Given the description of an element on the screen output the (x, y) to click on. 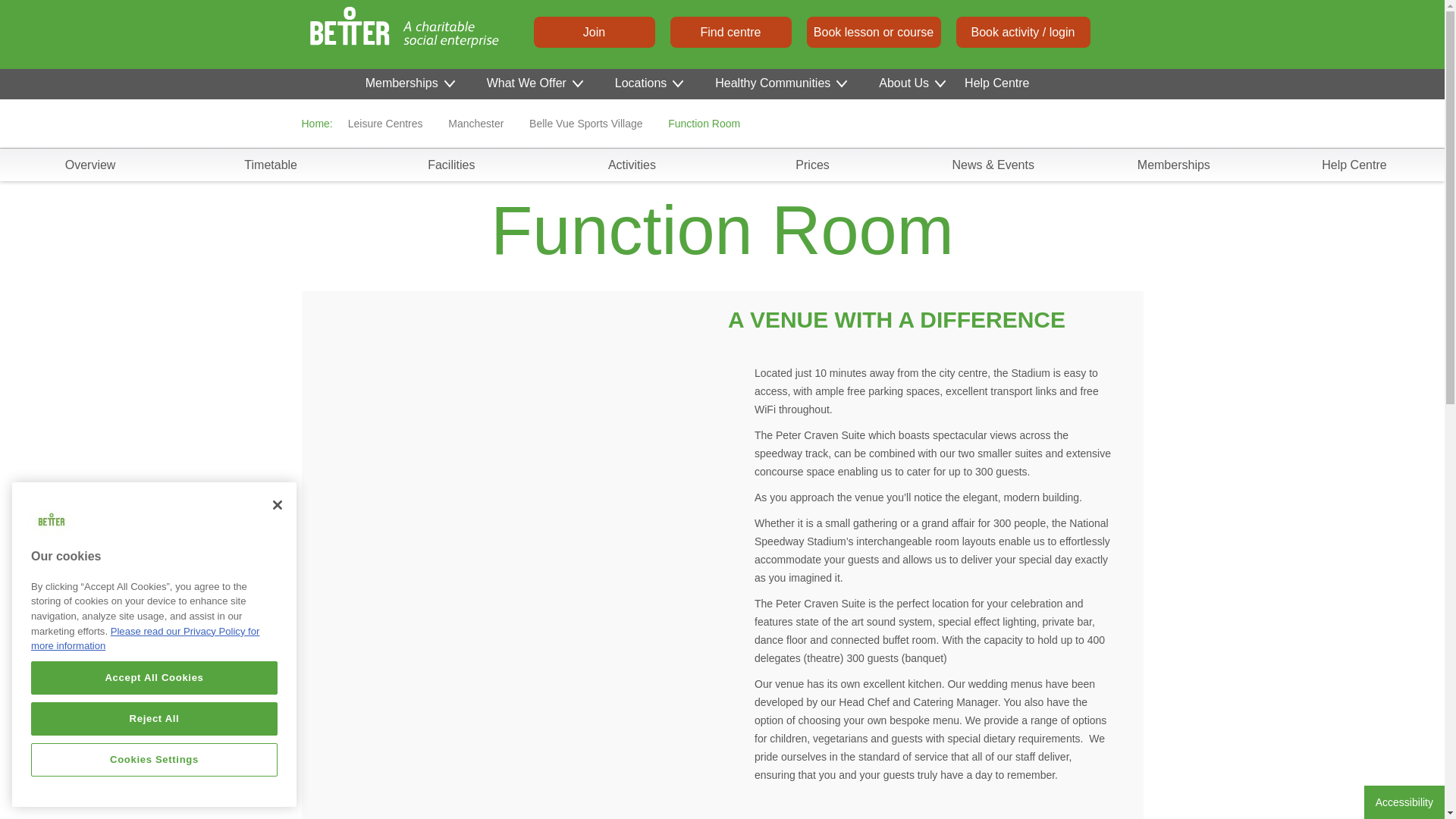
Open search (1120, 29)
Memberships (408, 83)
Go to home (347, 34)
What We Offer (533, 83)
Memberships for Belle Vue Sports Village (1174, 164)
Prices for Belle Vue Sports Village (812, 164)
Timetable for Belle Vue Sports Village (269, 164)
Company Logo (51, 521)
Breadcrumb Separator (517, 122)
Join (594, 31)
